Given the description of an element on the screen output the (x, y) to click on. 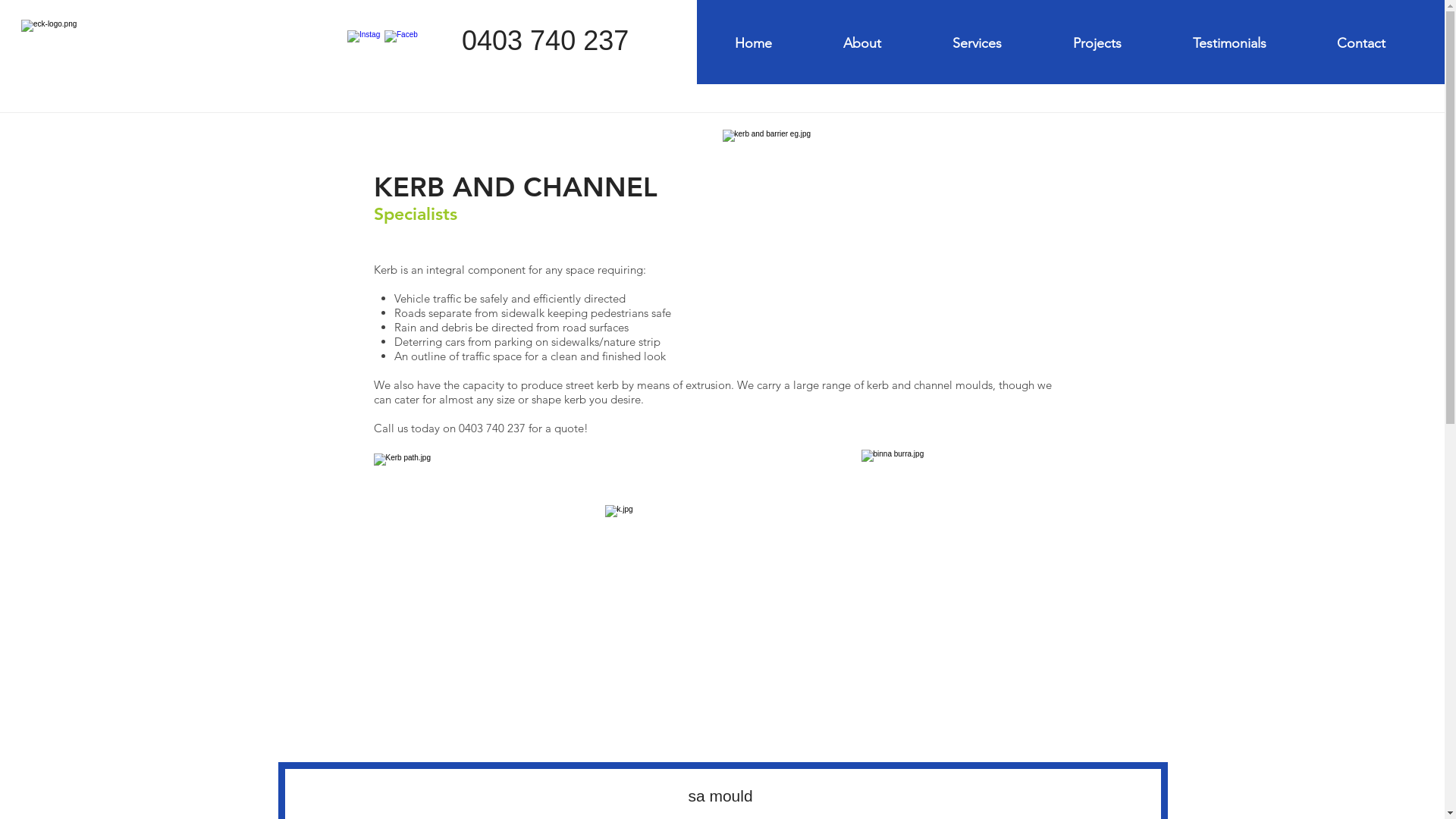
About Element type: text (886, 43)
Projects Element type: text (1121, 43)
Home Element type: text (777, 43)
Testimonials Element type: text (1253, 43)
Contact Element type: text (1384, 43)
